Given the description of an element on the screen output the (x, y) to click on. 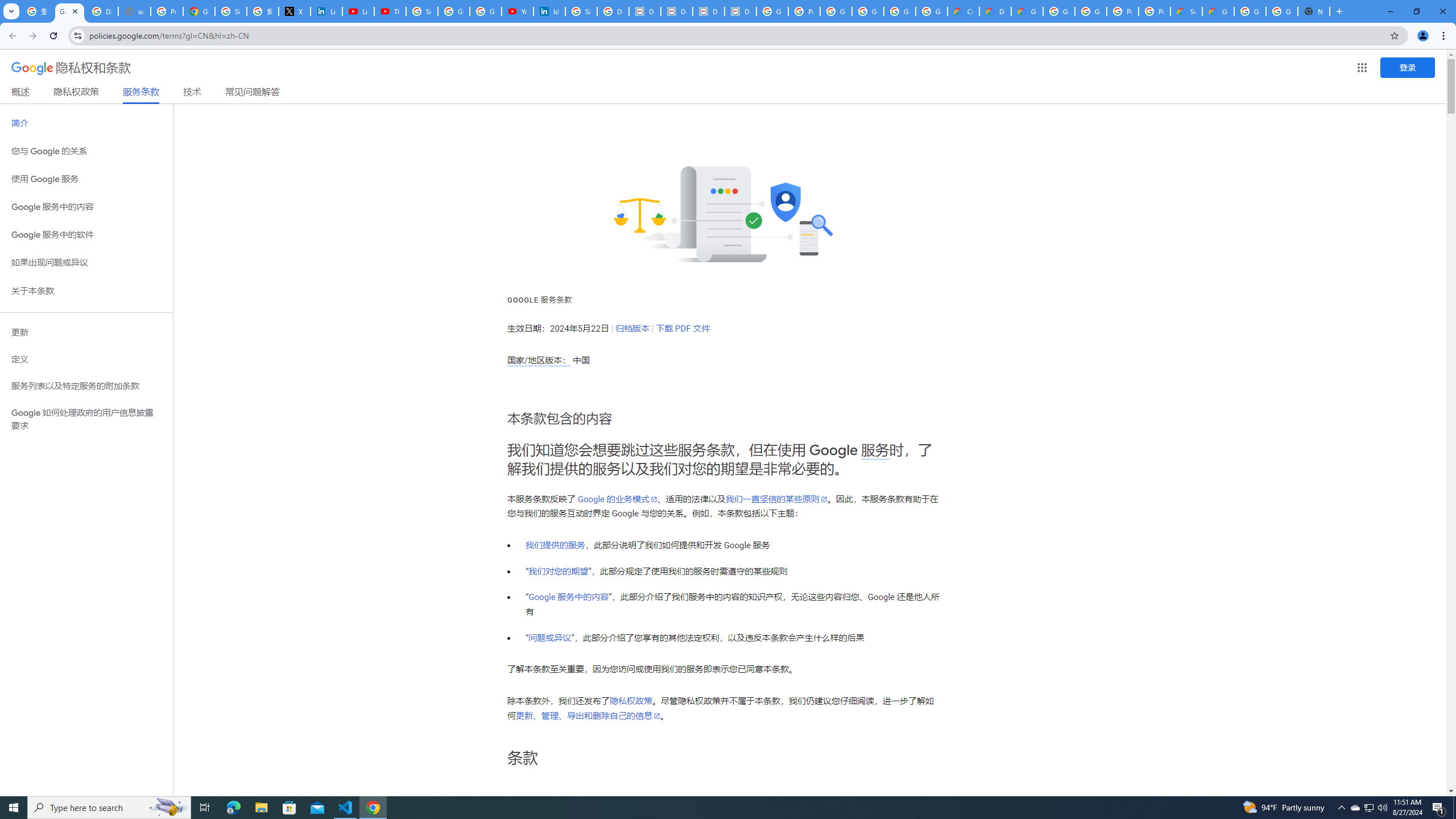
Customer Care | Google Cloud (963, 11)
Google Cloud Service Health (1217, 11)
Google Cloud Platform (1091, 11)
